Given the description of an element on the screen output the (x, y) to click on. 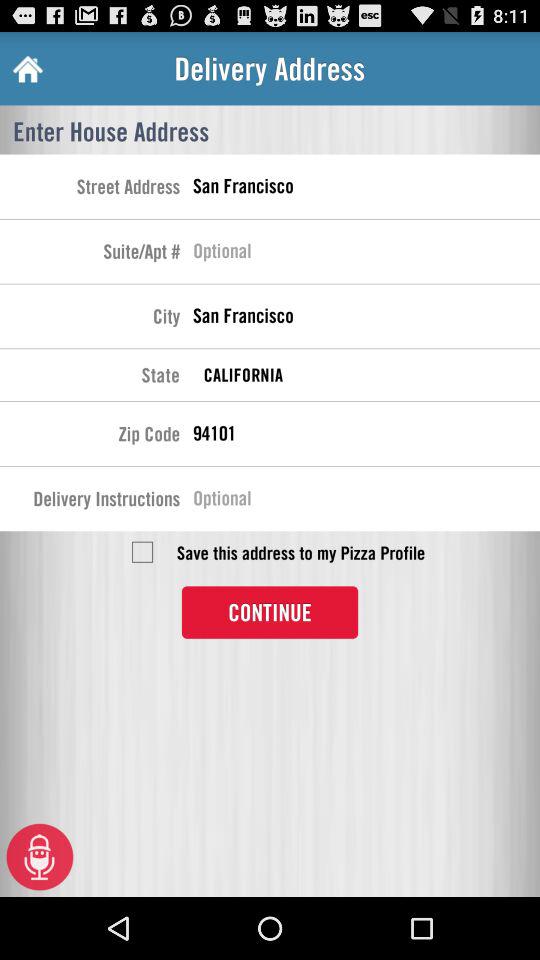
enter in the delivery instructions (366, 501)
